Given the description of an element on the screen output the (x, y) to click on. 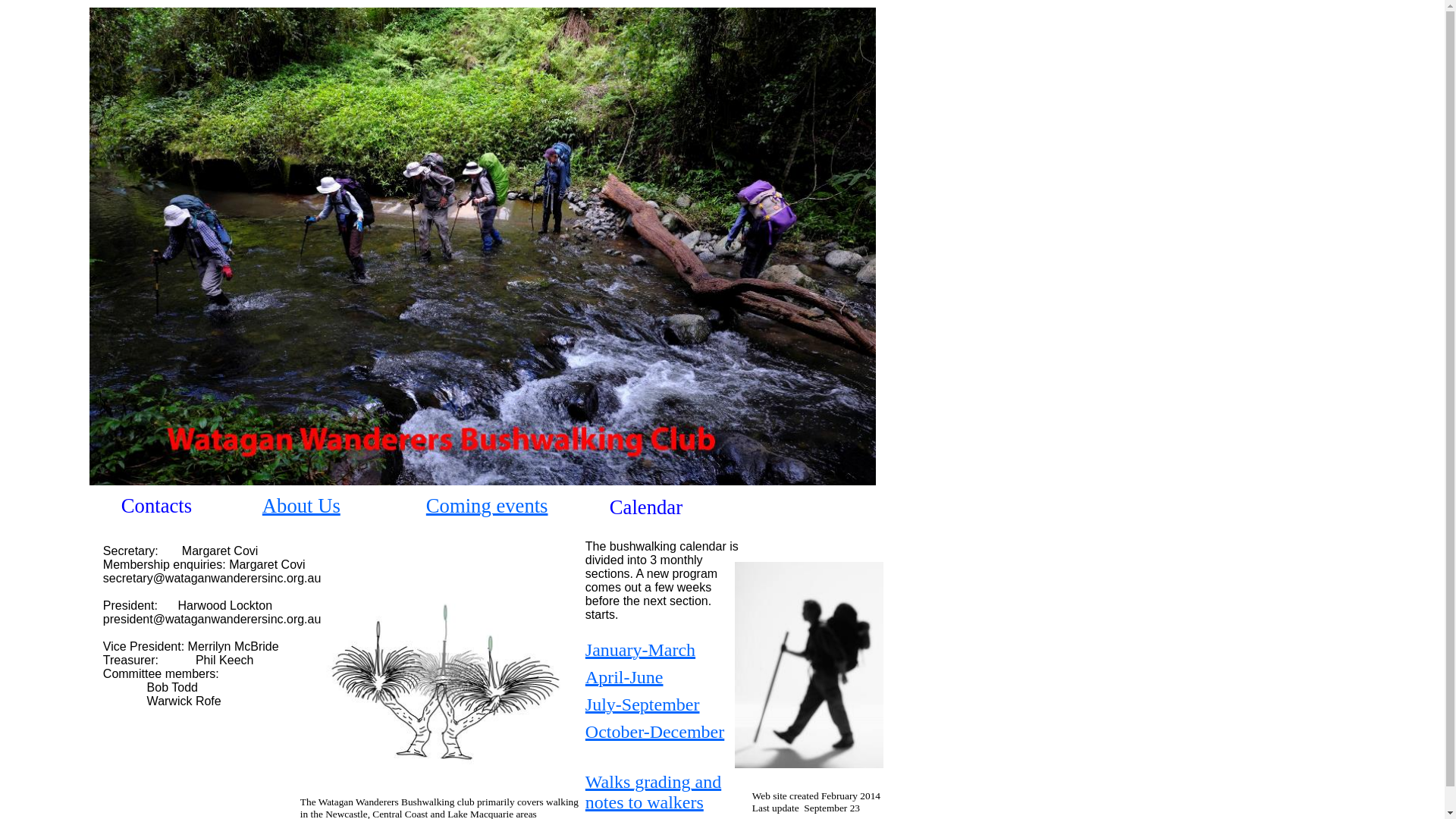
April-June Element type: text (624, 679)
About Us Element type: text (301, 508)
October-December Element type: text (654, 734)
July-September Element type: text (642, 706)
January-March Element type: text (640, 652)
Walks grading and notes to walkers Element type: text (653, 794)
Coming events Element type: text (487, 508)
